Given the description of an element on the screen output the (x, y) to click on. 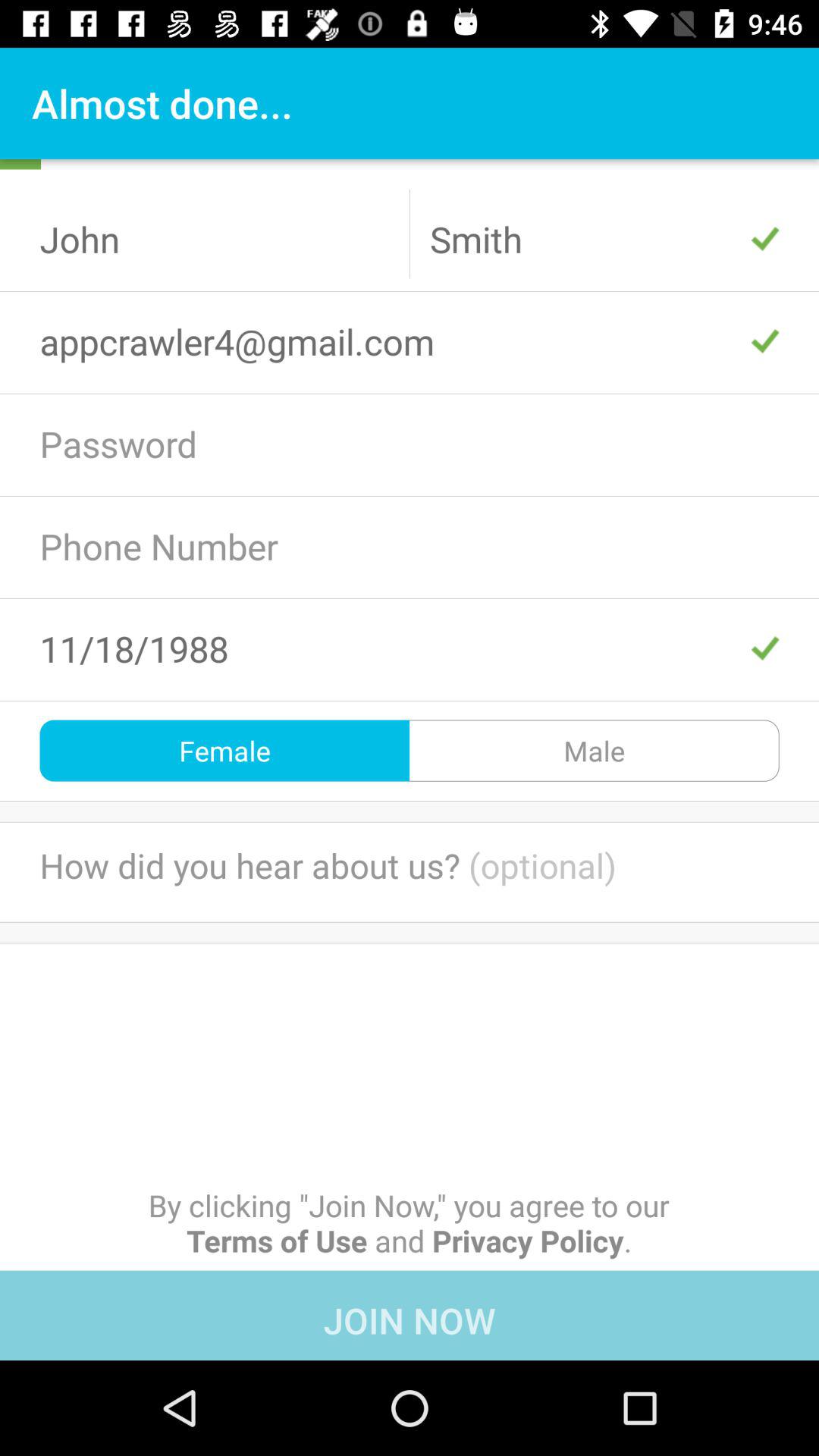
select the row which is below the phone number (409, 648)
select female (224, 750)
select the text smith (604, 239)
select male (594, 750)
select the text john (214, 239)
click on the text below female (409, 871)
select the text above to join now (409, 1222)
select the text box which says phone number (409, 545)
select the text which is above the password (409, 341)
